Given the description of an element on the screen output the (x, y) to click on. 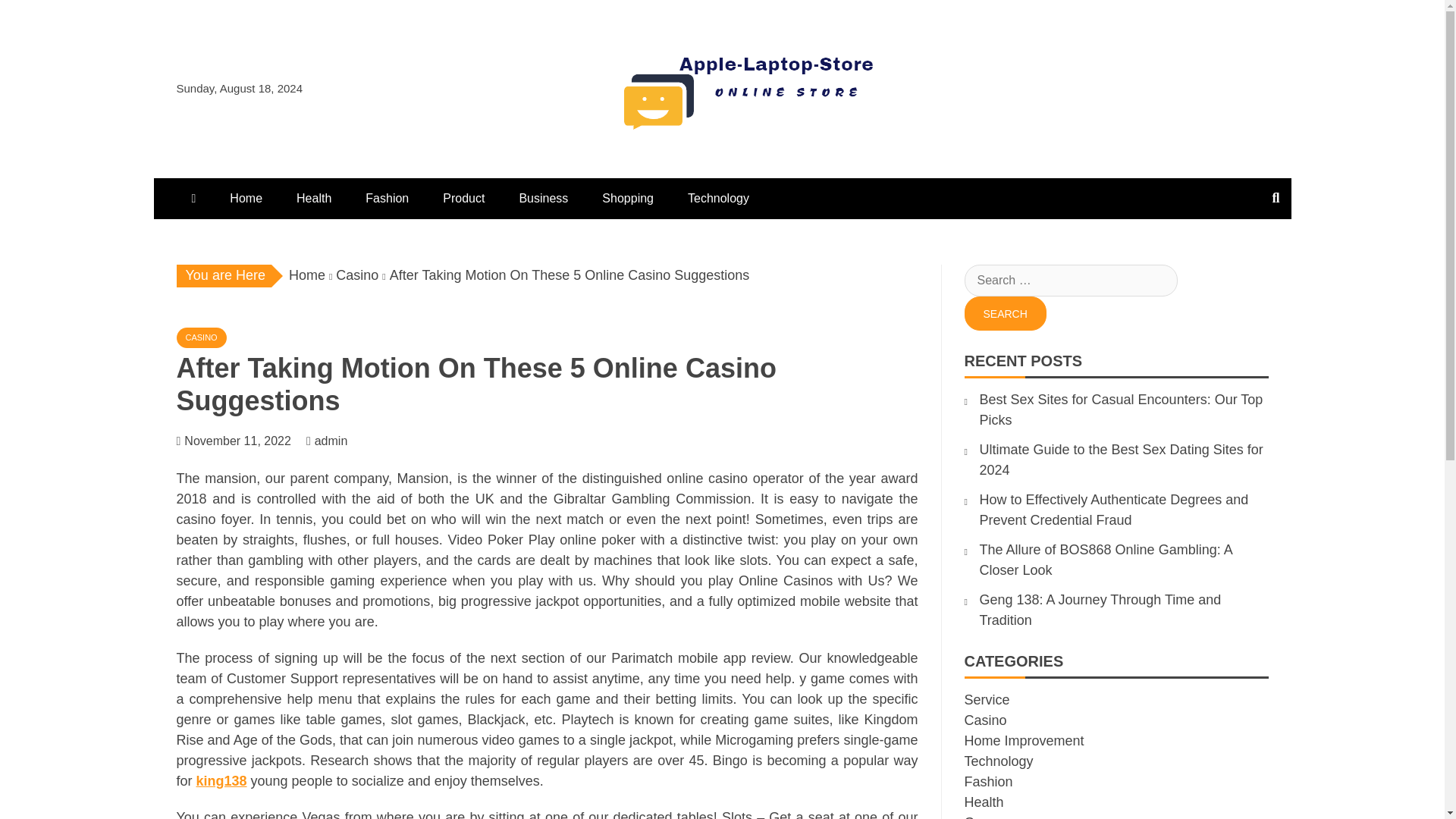
admin (338, 440)
Search (1004, 313)
Search (1004, 313)
Business (543, 198)
Home (306, 274)
Shopping (627, 198)
Health (313, 198)
Best Sex Sites for Casual Encounters: Our Top Picks (1121, 409)
Fashion (386, 198)
Technology (718, 198)
